Given the description of an element on the screen output the (x, y) to click on. 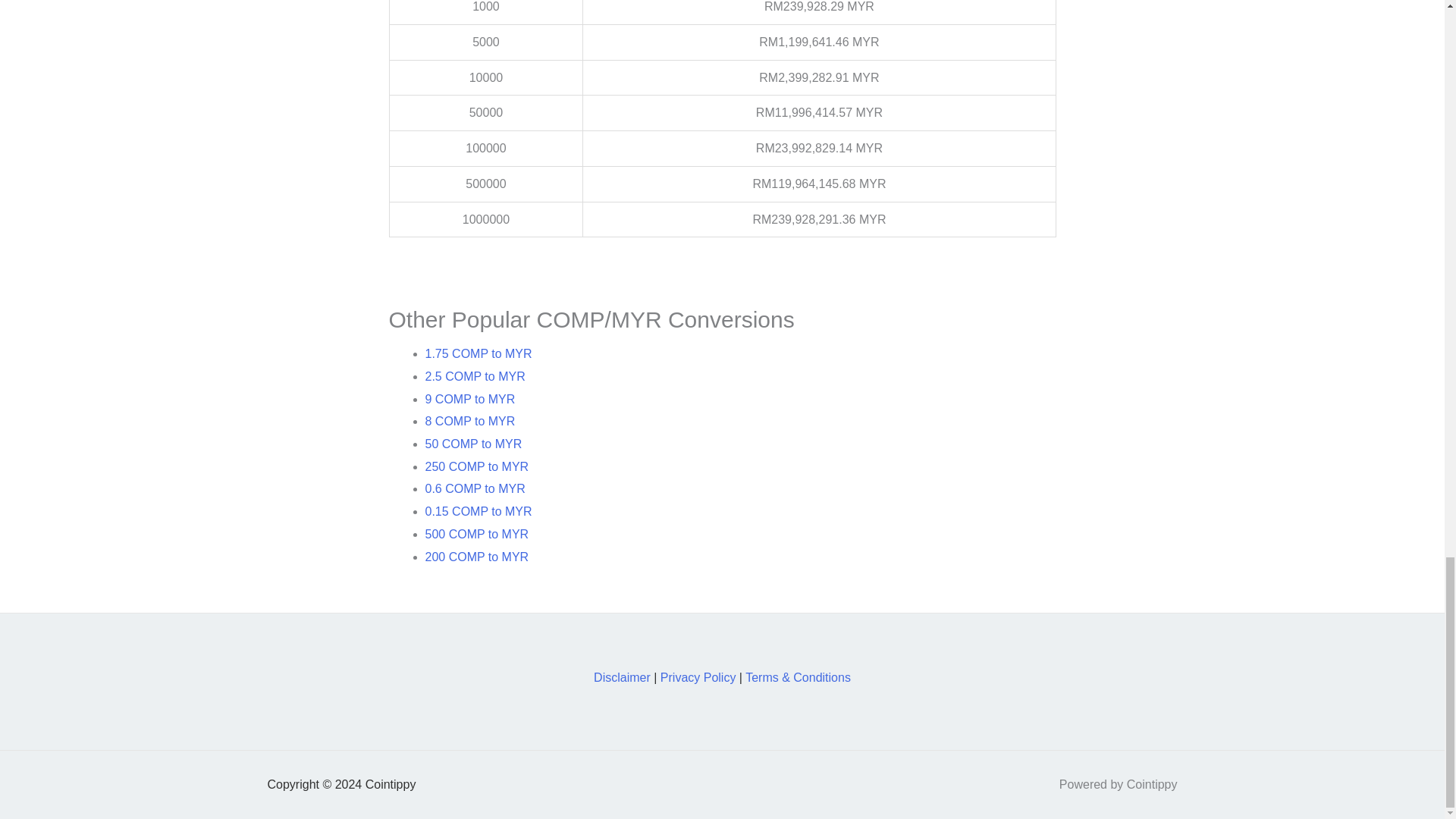
9 COMP to MYR (470, 399)
8 COMP to MYR (470, 420)
2.5 COMP to MYR (474, 376)
8 COMP to MYR (470, 420)
0.15 COMP to MYR (478, 511)
0.6 COMP to MYR (474, 488)
0.6 COMP to MYR (474, 488)
2.5 COMP to MYR (474, 376)
Disclaimer (622, 676)
Privacy Policy (698, 676)
500 COMP to MYR (476, 533)
1.75 COMP to MYR (478, 353)
200 COMP to MYR (476, 556)
0.15 COMP to MYR (478, 511)
50 COMP to MYR (473, 443)
